Given the description of an element on the screen output the (x, y) to click on. 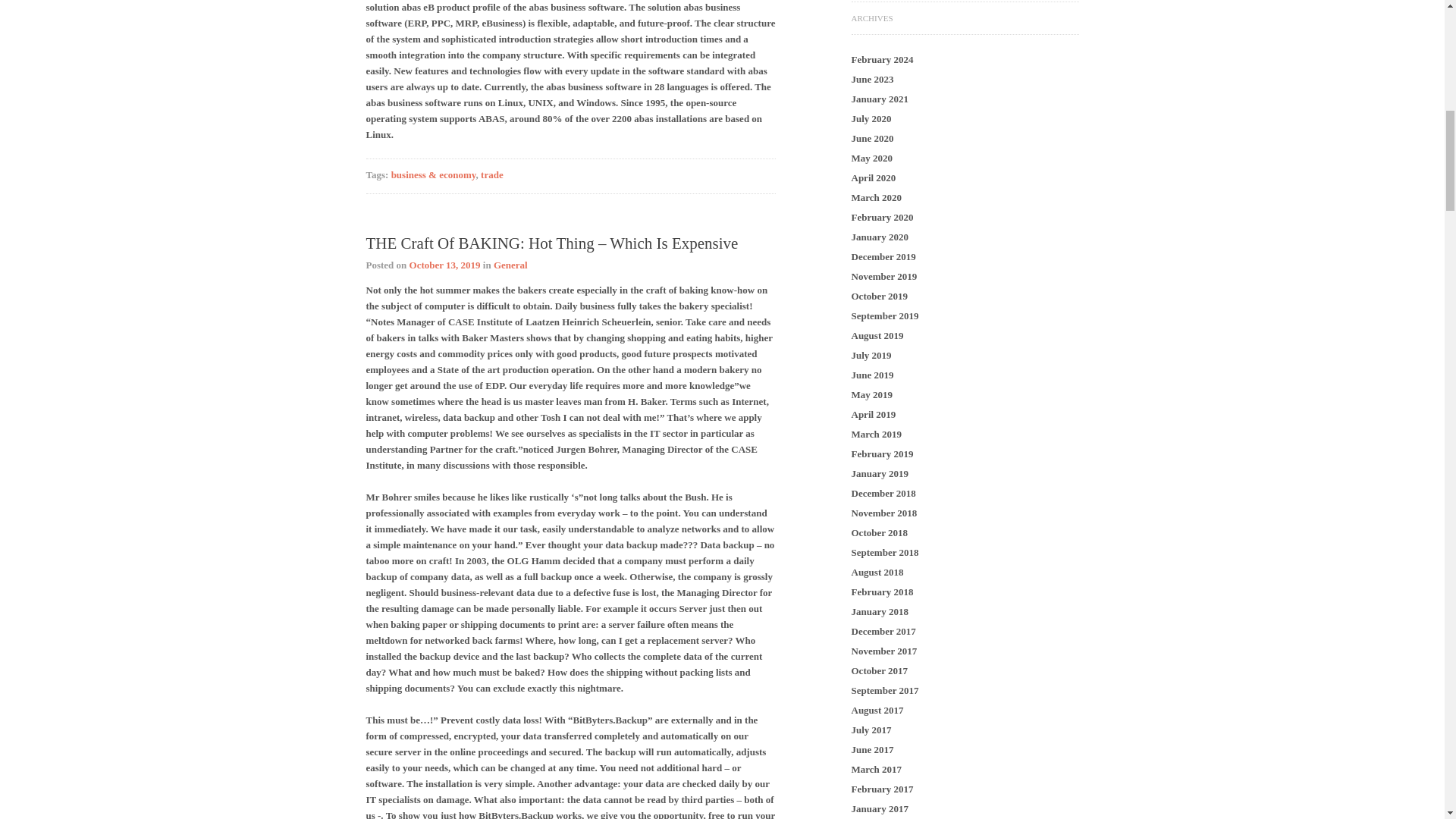
trade (491, 174)
General (510, 265)
October 13, 2019 (444, 265)
